Given the description of an element on the screen output the (x, y) to click on. 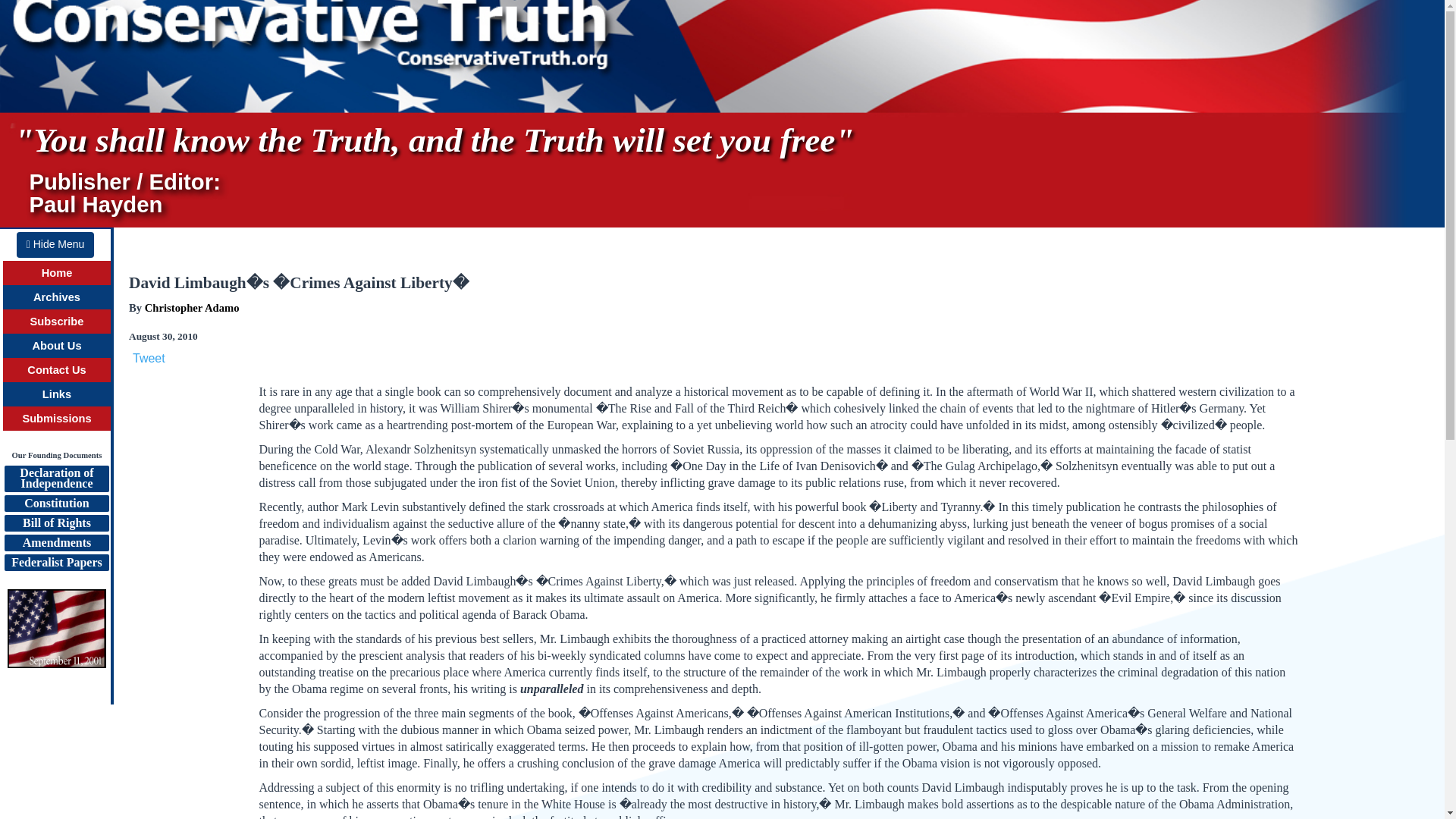
Christopher Adamo (192, 307)
Constitution (56, 503)
Bill of Rights (56, 523)
Tweet (148, 358)
Home (56, 479)
Archives (57, 272)
Contact Us (56, 297)
Federalist Papers (56, 369)
Subscribe (56, 562)
Amendments (57, 321)
Hide Menu (56, 542)
About Us (55, 244)
Submissions (56, 345)
Links (55, 418)
